Given the description of an element on the screen output the (x, y) to click on. 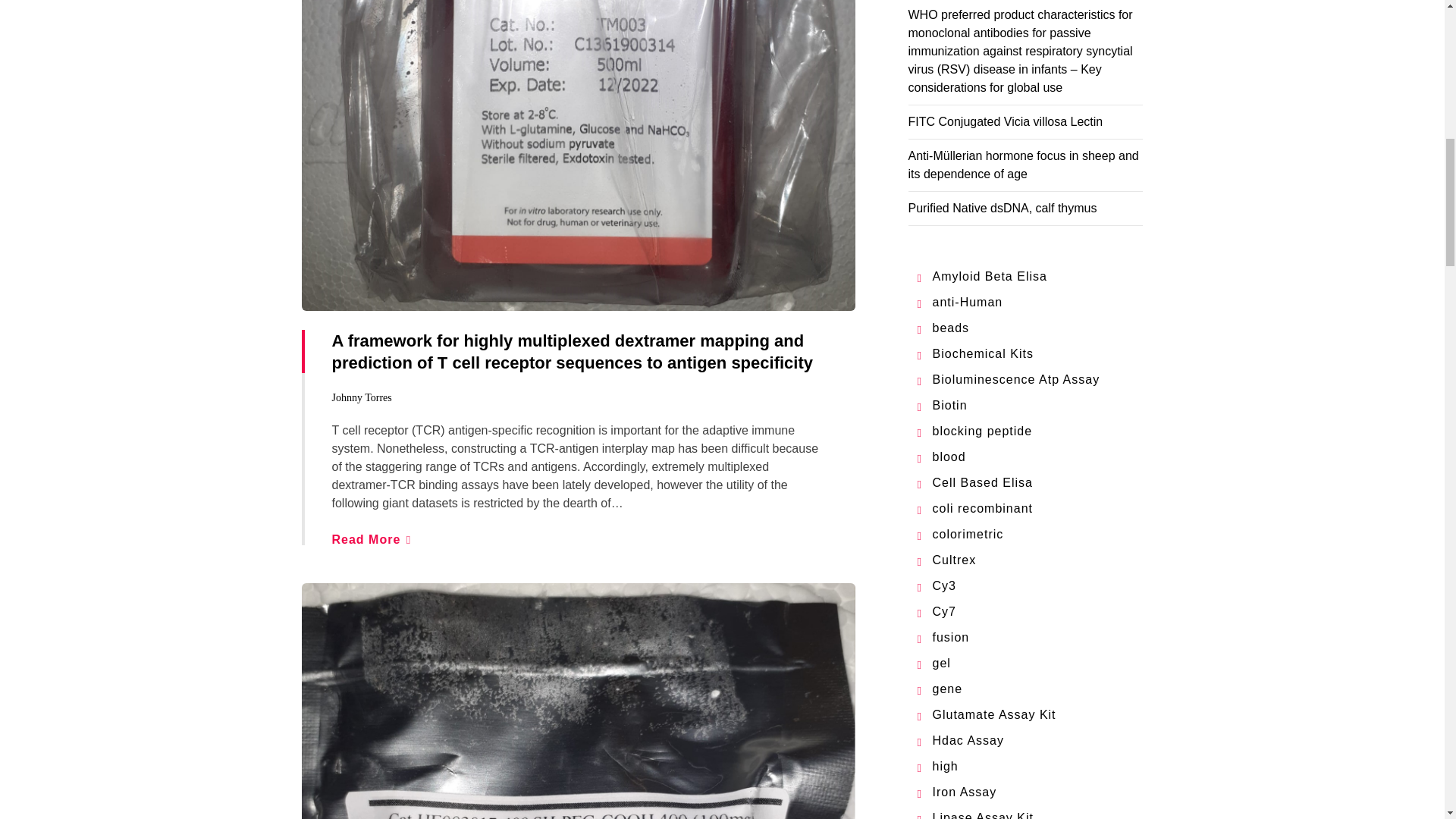
Read More (370, 539)
Johnny Torres (361, 397)
